Given the description of an element on the screen output the (x, y) to click on. 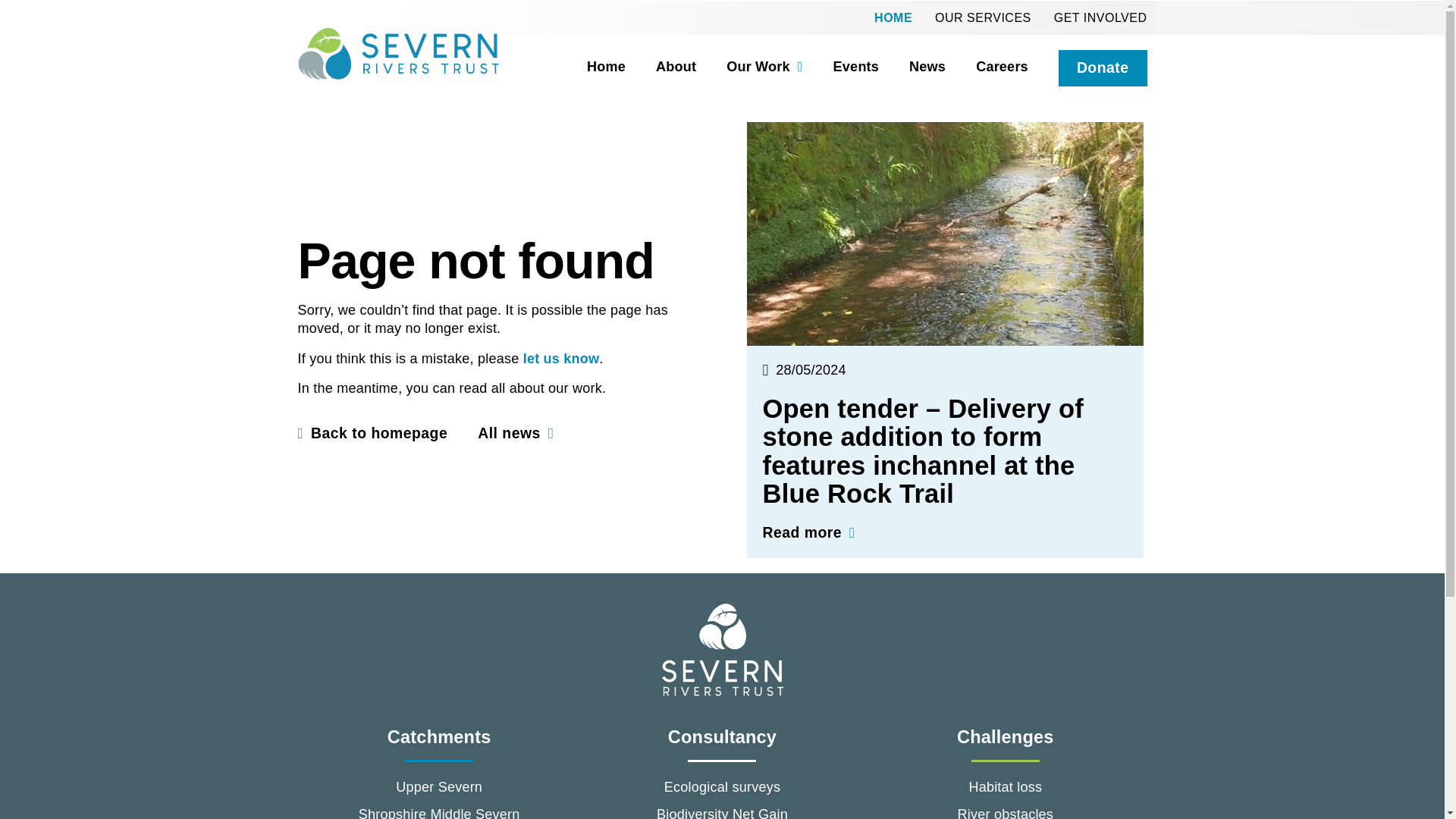
Events (841, 66)
OUR SERVICES (982, 18)
HOME (893, 18)
GET INVOLVED (1100, 18)
Home (591, 66)
Careers (985, 66)
News (911, 66)
Donate (1102, 67)
About (660, 66)
Our Work (748, 66)
